Given the description of an element on the screen output the (x, y) to click on. 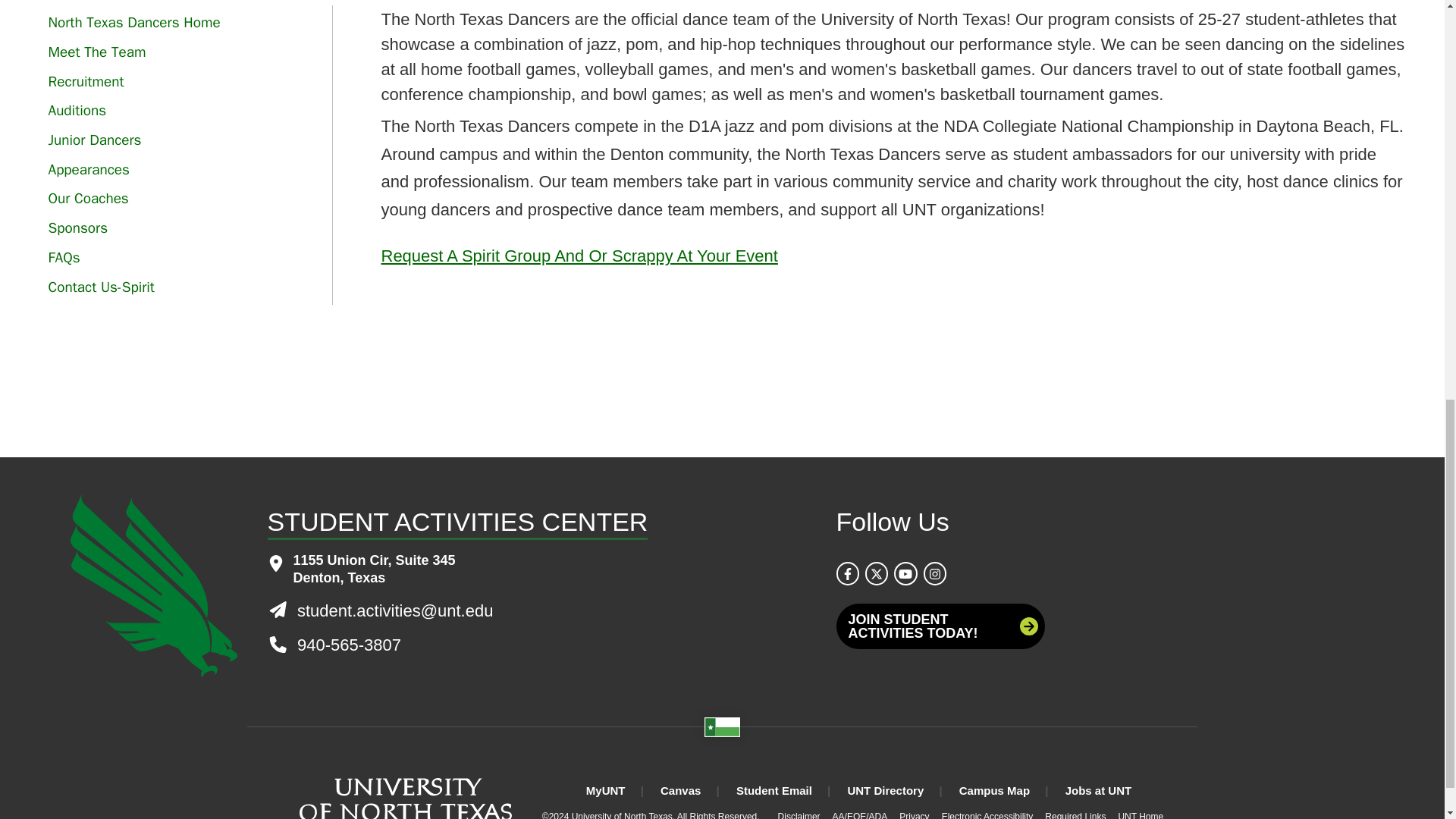
Request a spirit group or scrappy at your event (578, 255)
